Given the description of an element on the screen output the (x, y) to click on. 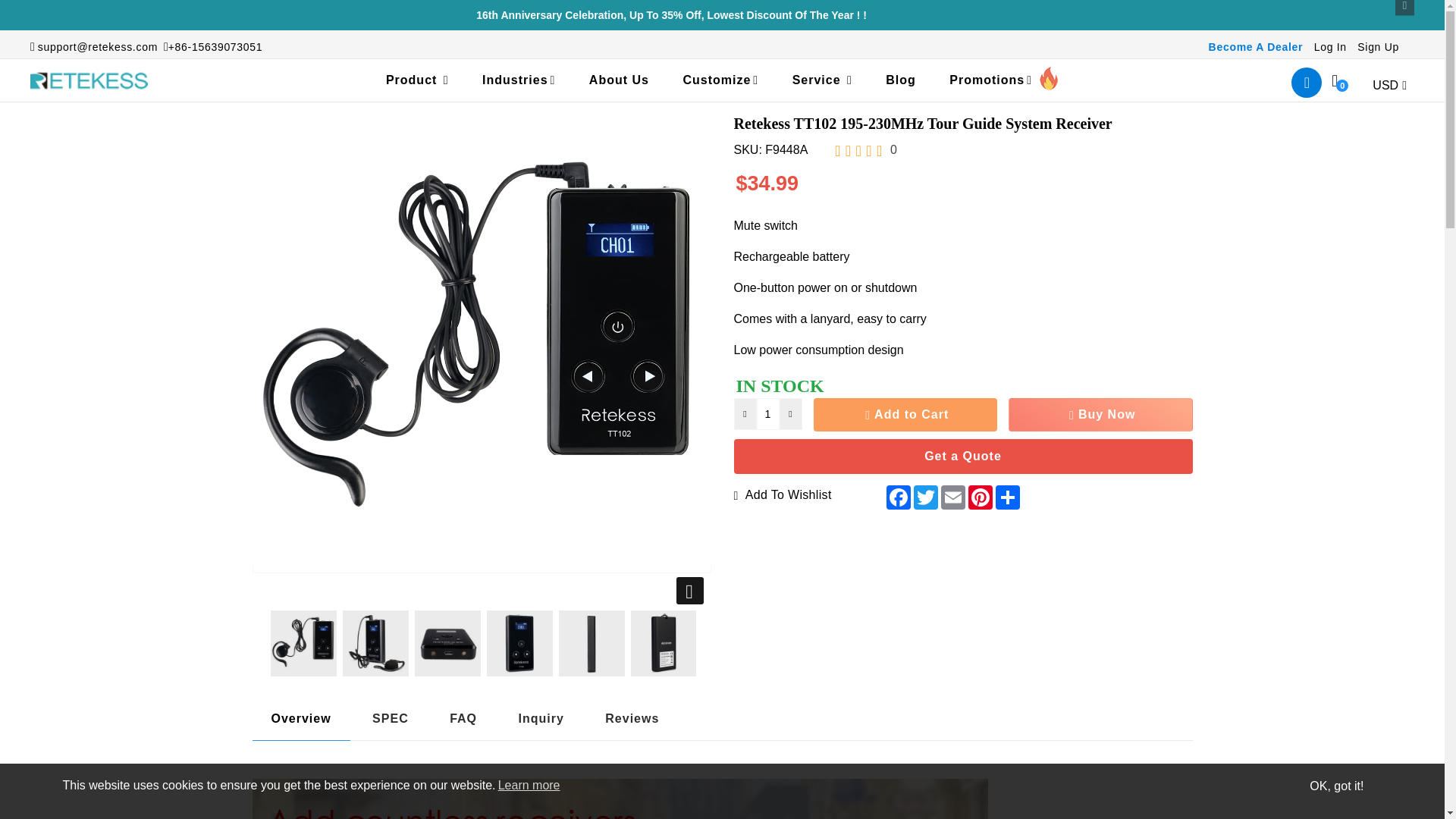
Log In (1330, 46)
Promotions (1004, 80)
Product (417, 80)
Become A Dealer (1255, 46)
About Us (618, 80)
wireless retekess tour guide system (375, 643)
Cart (1335, 80)
BLOG (900, 80)
retekess-wireless-tt102-tour-guide-receiver-with-earpiece (302, 643)
Zoom (690, 590)
TT101 TT102 retekess tour guide sustem (231, 643)
Retekess (89, 79)
Service (822, 80)
1 (767, 413)
Sign Up (1377, 46)
